Given the description of an element on the screen output the (x, y) to click on. 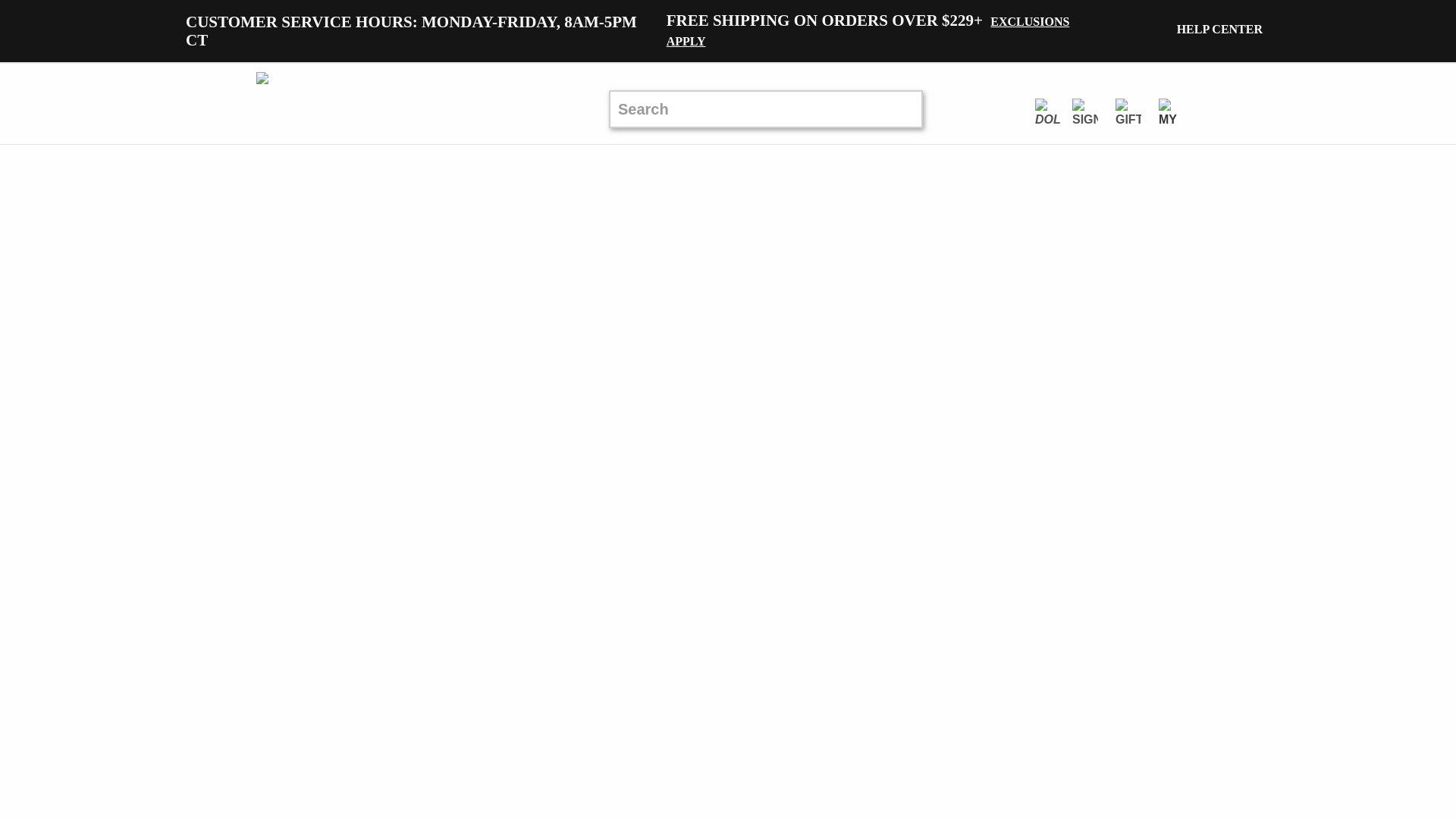
BARNDOOR AG (343, 103)
EXCLUSIONS APPLY (868, 31)
